Given the description of an element on the screen output the (x, y) to click on. 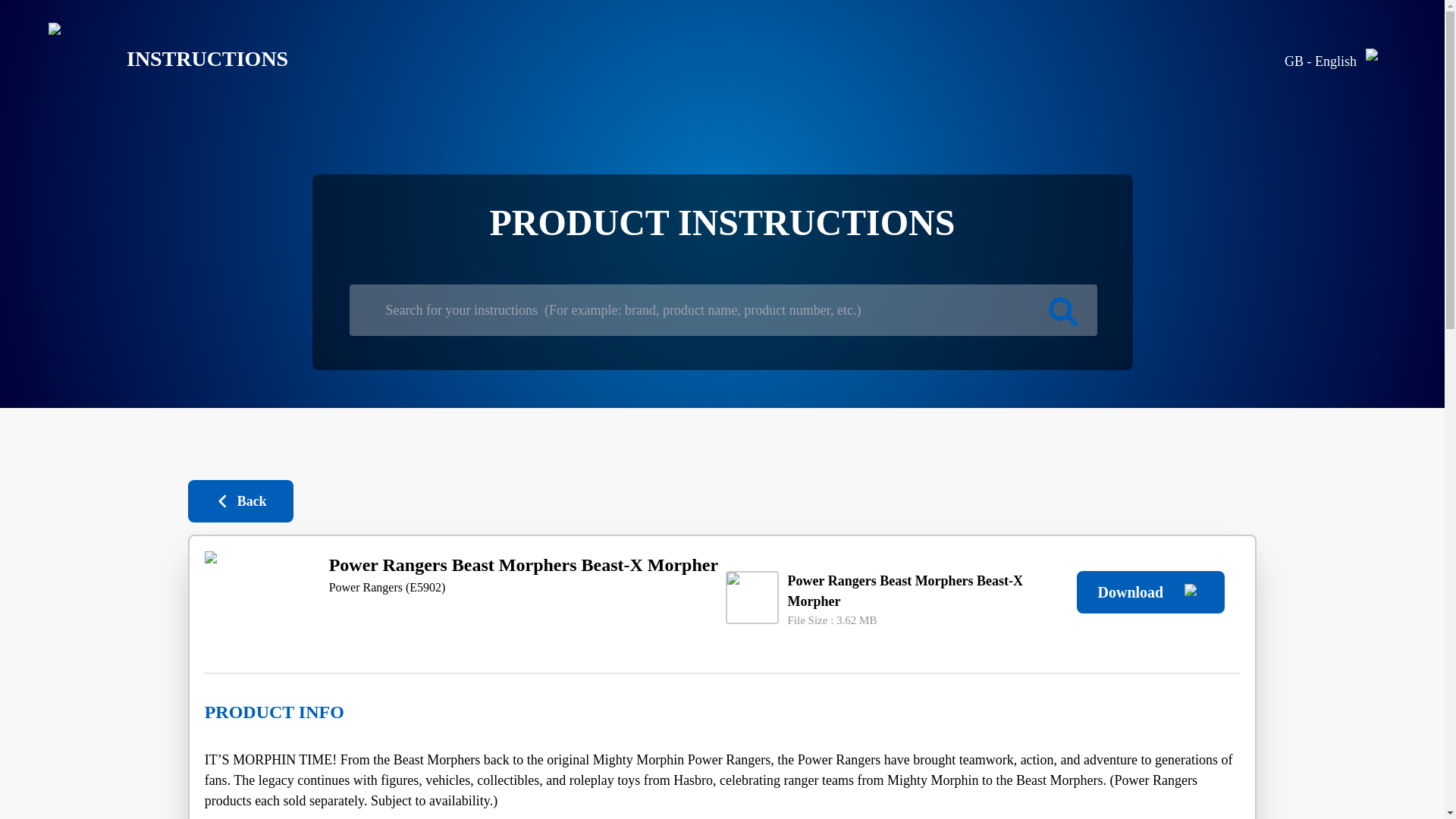
Download (1150, 591)
INSTRUCTIONS (156, 59)
Back (240, 500)
